Given the description of an element on the screen output the (x, y) to click on. 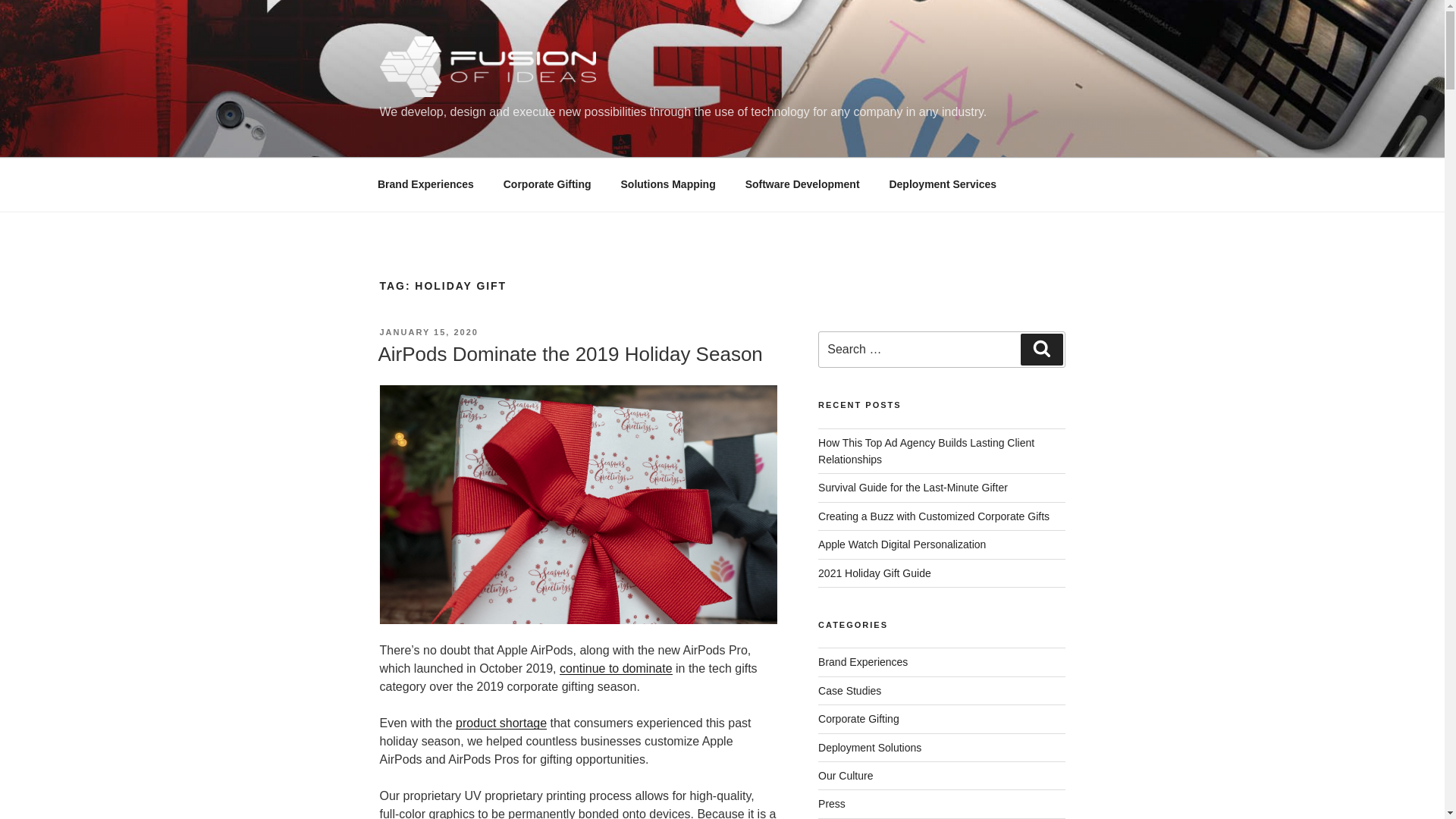
JANUARY 15, 2020 (427, 331)
Solutions Mapping (668, 184)
Deployment Services (943, 184)
Corporate Gifting (546, 184)
product shortage (501, 722)
continue to dominate (615, 667)
AirPods Dominate the 2019 Holiday Season (569, 354)
Software Development (802, 184)
Brand Experiences (425, 184)
